Given the description of an element on the screen output the (x, y) to click on. 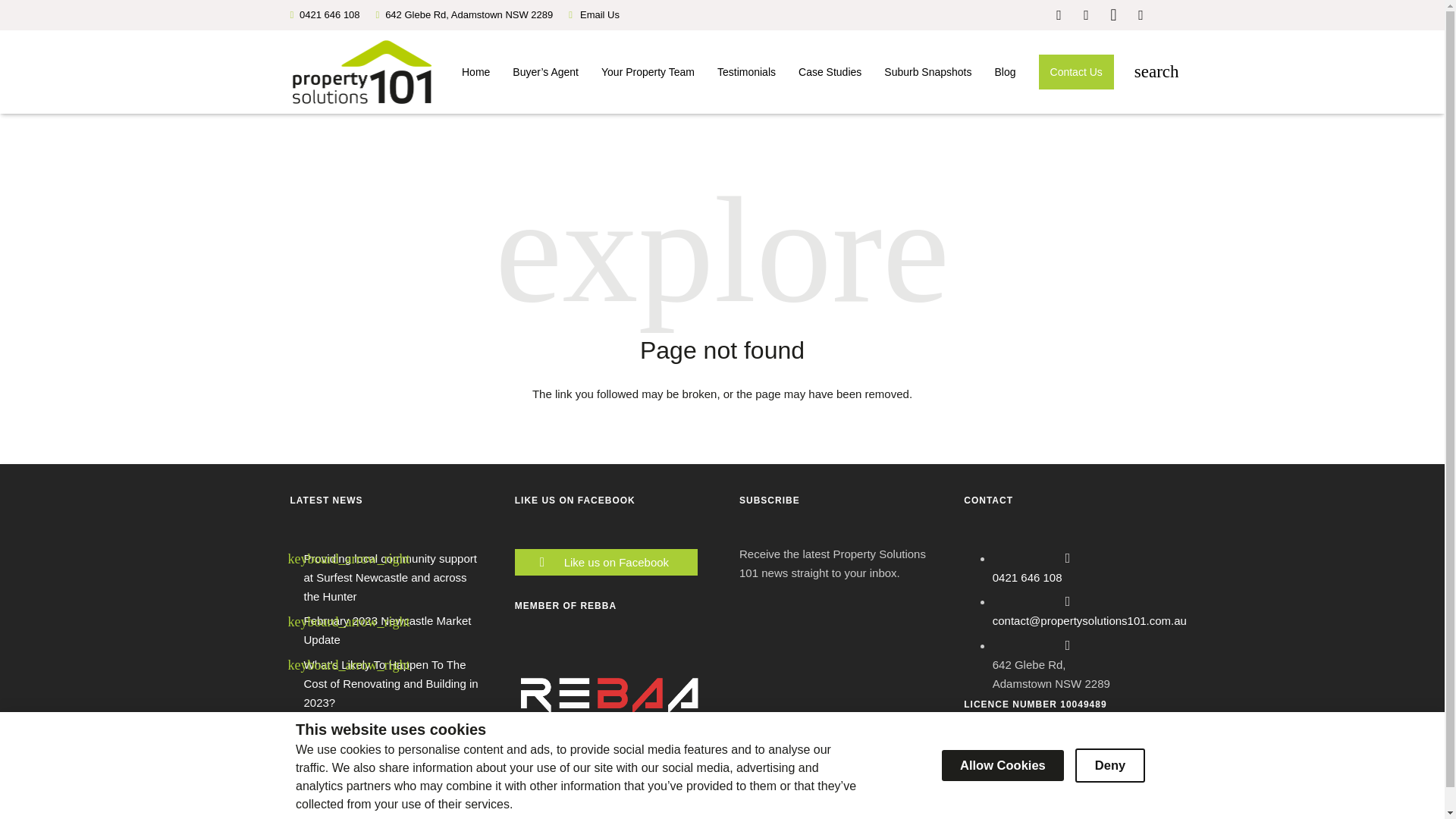
Suburb Snapshots (927, 71)
Like us on Facebook (620, 561)
Website by HyperWeb - Website Development Newcastle (1082, 814)
Case Studies (829, 71)
642 Glebe Rd, Adamstown NSW 2289 (469, 14)
Contact Us (1076, 71)
Privacy Policy (489, 814)
Should You Sell through an Agent? (390, 726)
February 2023 Newcastle Market Update (386, 630)
0421 646 108 (1027, 576)
Email Us (599, 14)
Testimonials (746, 71)
Your Property Team (647, 71)
Market Update December 2022 (381, 751)
